Given the description of an element on the screen output the (x, y) to click on. 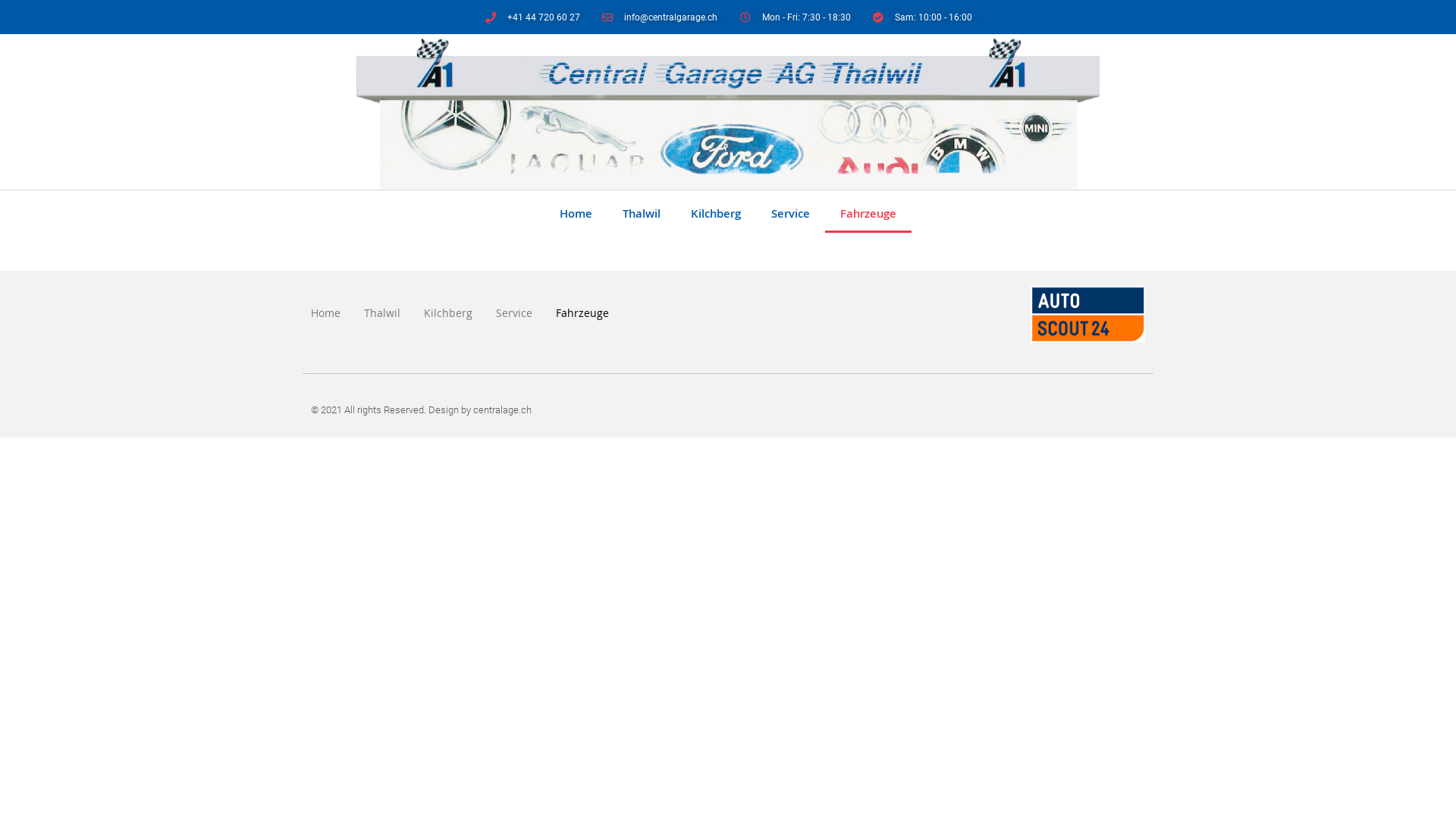
Kilchberg Element type: text (715, 214)
Service Element type: text (790, 214)
Thalwil Element type: text (382, 314)
centralgarage_balkon_gross Element type: hover (727, 113)
Service Element type: text (513, 314)
Home Element type: text (575, 214)
Fahrzeuge Element type: text (581, 314)
Thalwil Element type: text (641, 214)
Fahrzeuge Element type: text (868, 214)
Autoscout24 Element type: hover (1087, 313)
Kilchberg Element type: text (447, 314)
Home Element type: text (325, 314)
